Given the description of an element on the screen output the (x, y) to click on. 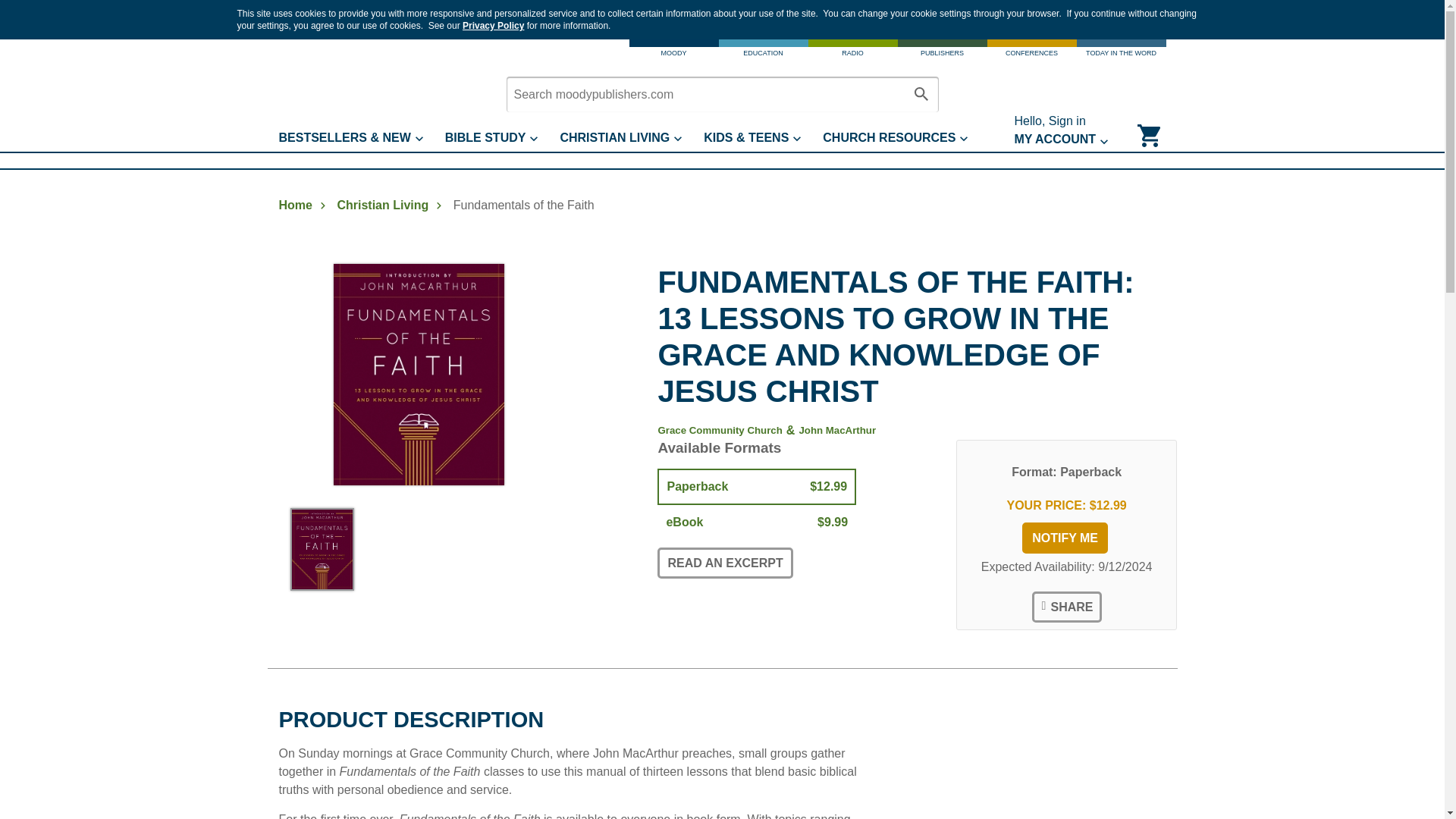
CHRISTIAN LIVING (631, 137)
CHURCH RESOURCES (906, 137)
John MacArthur (836, 430)
TODAY IN THE WORD (1121, 51)
Privacy Policy (493, 25)
EDUCATION (763, 51)
CONFERENCES (1032, 51)
MOODY (673, 51)
PUBLISHERS (942, 51)
MY ACCOUNT (1072, 139)
RADIO (853, 51)
Grace Community Church (719, 430)
Search (921, 93)
BIBLE STUDY (502, 137)
